Given the description of an element on the screen output the (x, y) to click on. 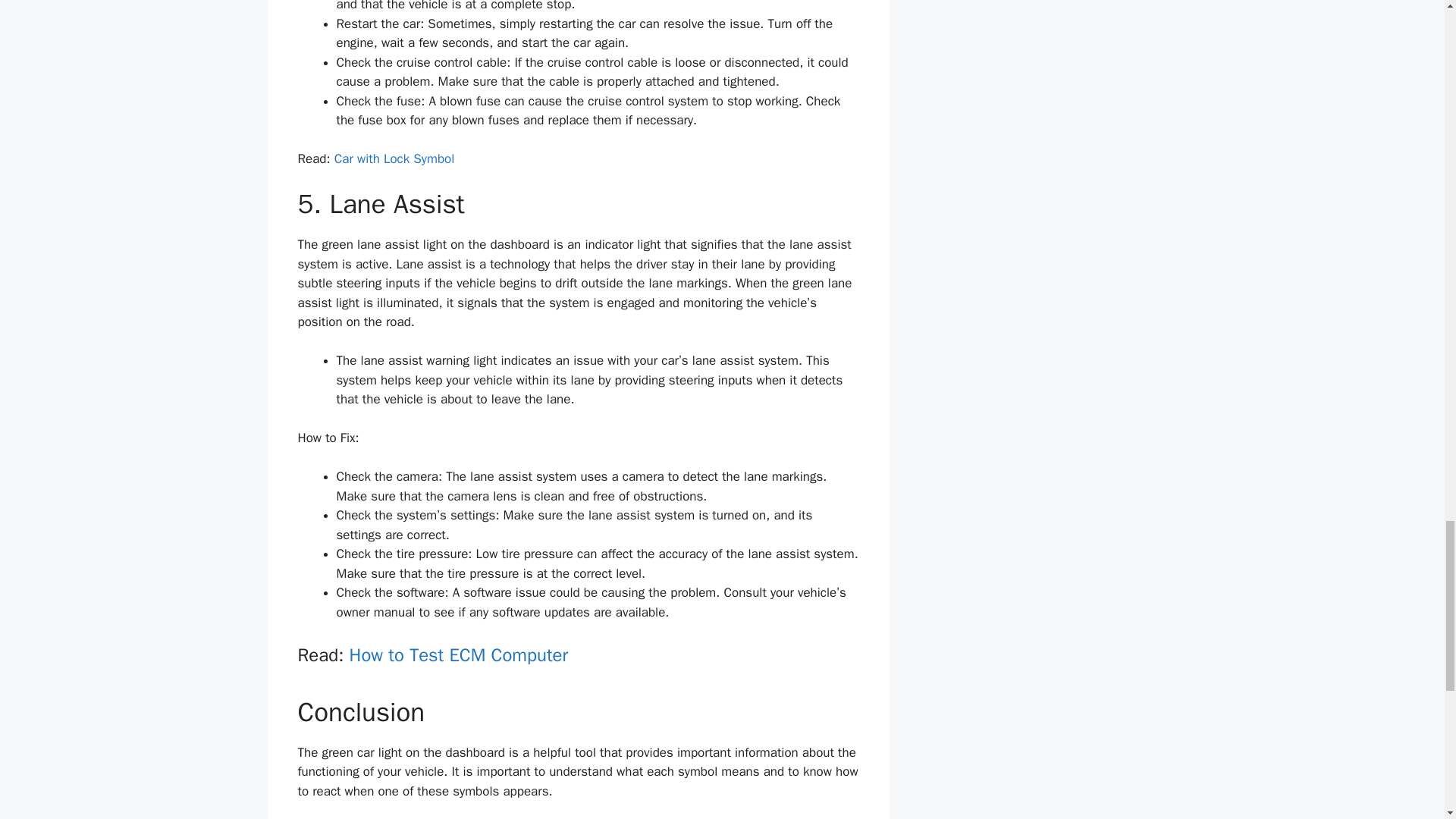
Car with Lock Symbol (394, 158)
How to Test ECM Computer (459, 654)
